Given the description of an element on the screen output the (x, y) to click on. 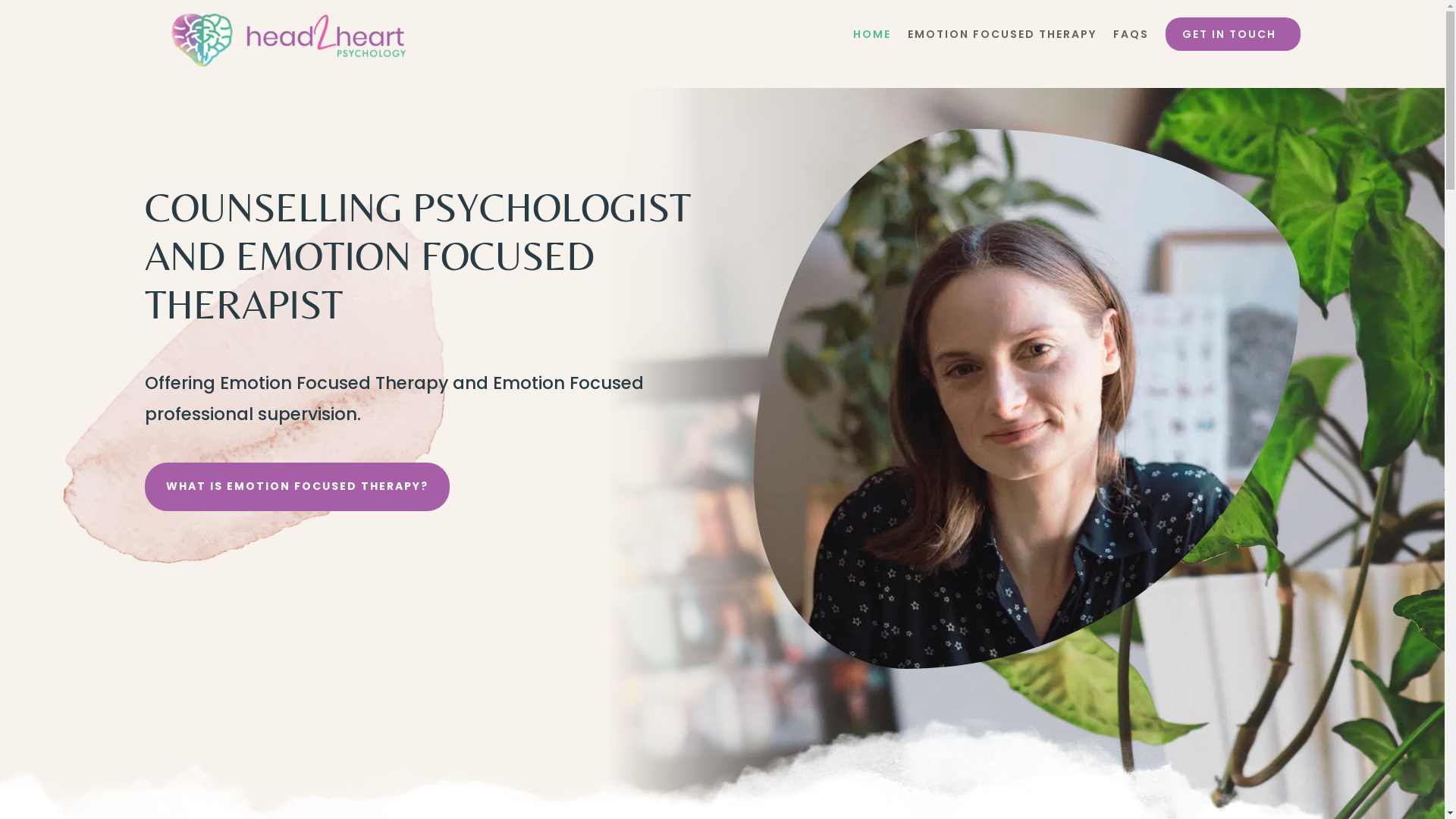
EMOTION FOCUSED THERAPY Element type: text (1000, 39)
FAQS Element type: text (1130, 39)
HOME Element type: text (871, 39)
WHAT IS EMOTION FOCUSED THERAPY? Element type: text (296, 486)
Immogen-o-connor-pscyhologist Element type: hover (1026, 398)
Counselling Psychologist Element type: hover (253, 383)
Head 2 Heart Emotion Focused Therapist Element type: hover (288, 39)
GET IN TOUCH Element type: text (1231, 33)
